Given the description of an element on the screen output the (x, y) to click on. 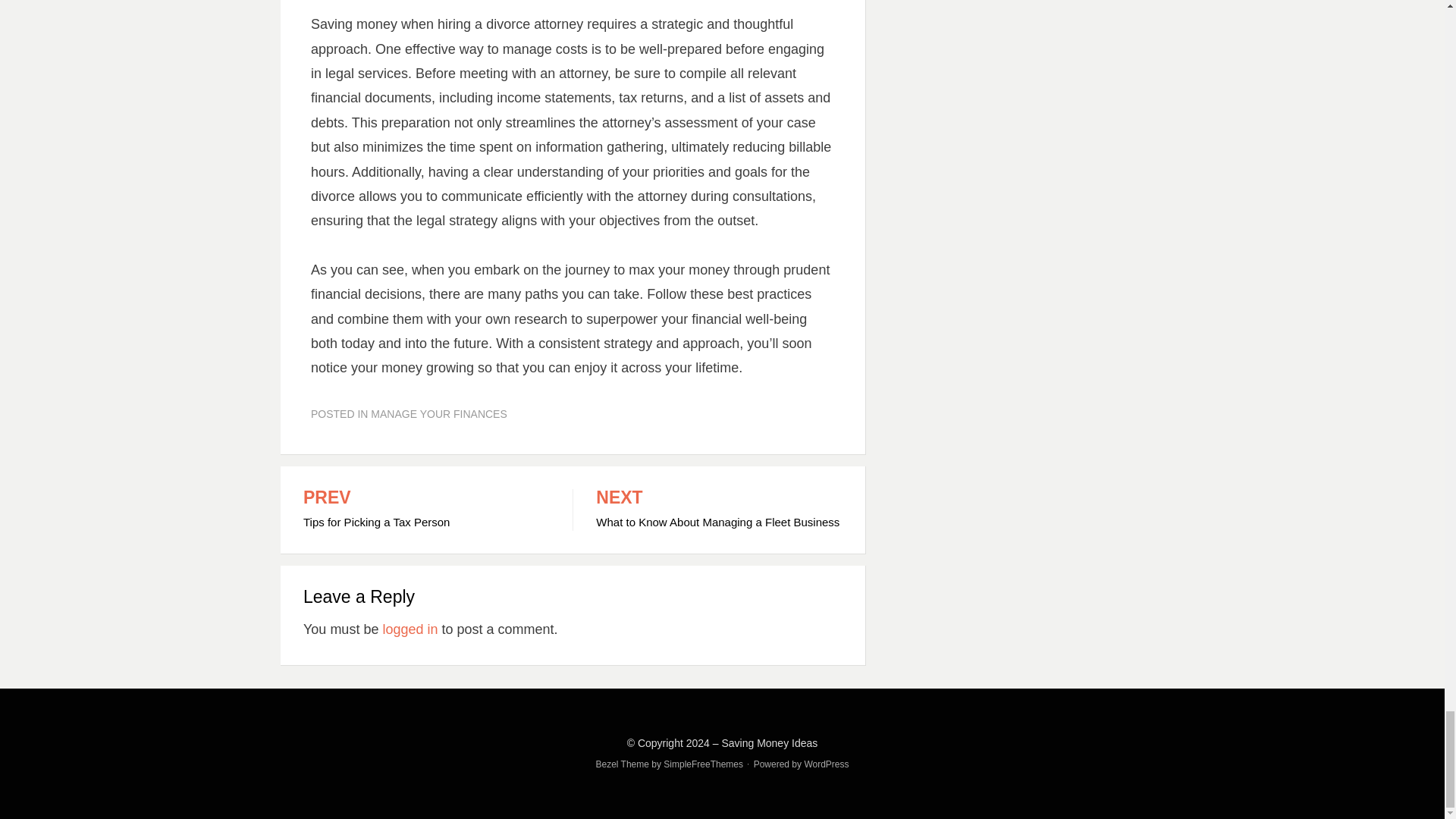
logged in (409, 629)
Saving Money Ideas (768, 743)
MANAGE YOUR FINANCES (438, 413)
WordPress (426, 509)
SimpleFreeThemes (825, 764)
SimpleFreeThemes (718, 509)
WordPress (702, 764)
